Given the description of an element on the screen output the (x, y) to click on. 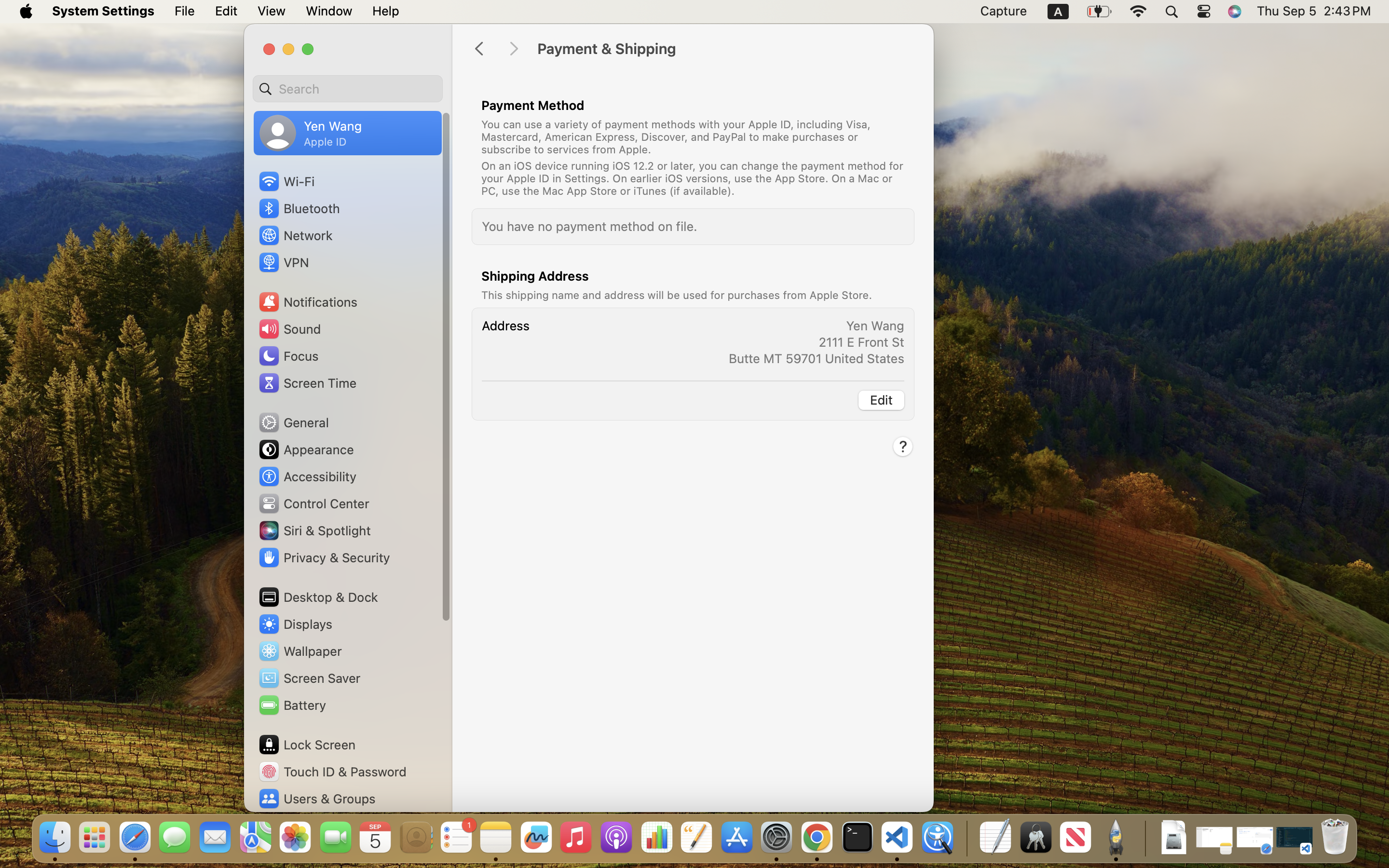
Privacy & Security Element type: AXStaticText (323, 557)
Touch ID & Password Element type: AXStaticText (332, 771)
Sound Element type: AXStaticText (289, 328)
Siri & Spotlight Element type: AXStaticText (313, 530)
On an iOS device running iOS 12.2 or later, you can change the payment method for your Apple ID in Settings. On earlier iOS versions, use the App Store. On a Mac or PC, use the Mac App Store or iTunes (if available). Element type: AXStaticText (692, 177)
